Given the description of an element on the screen output the (x, y) to click on. 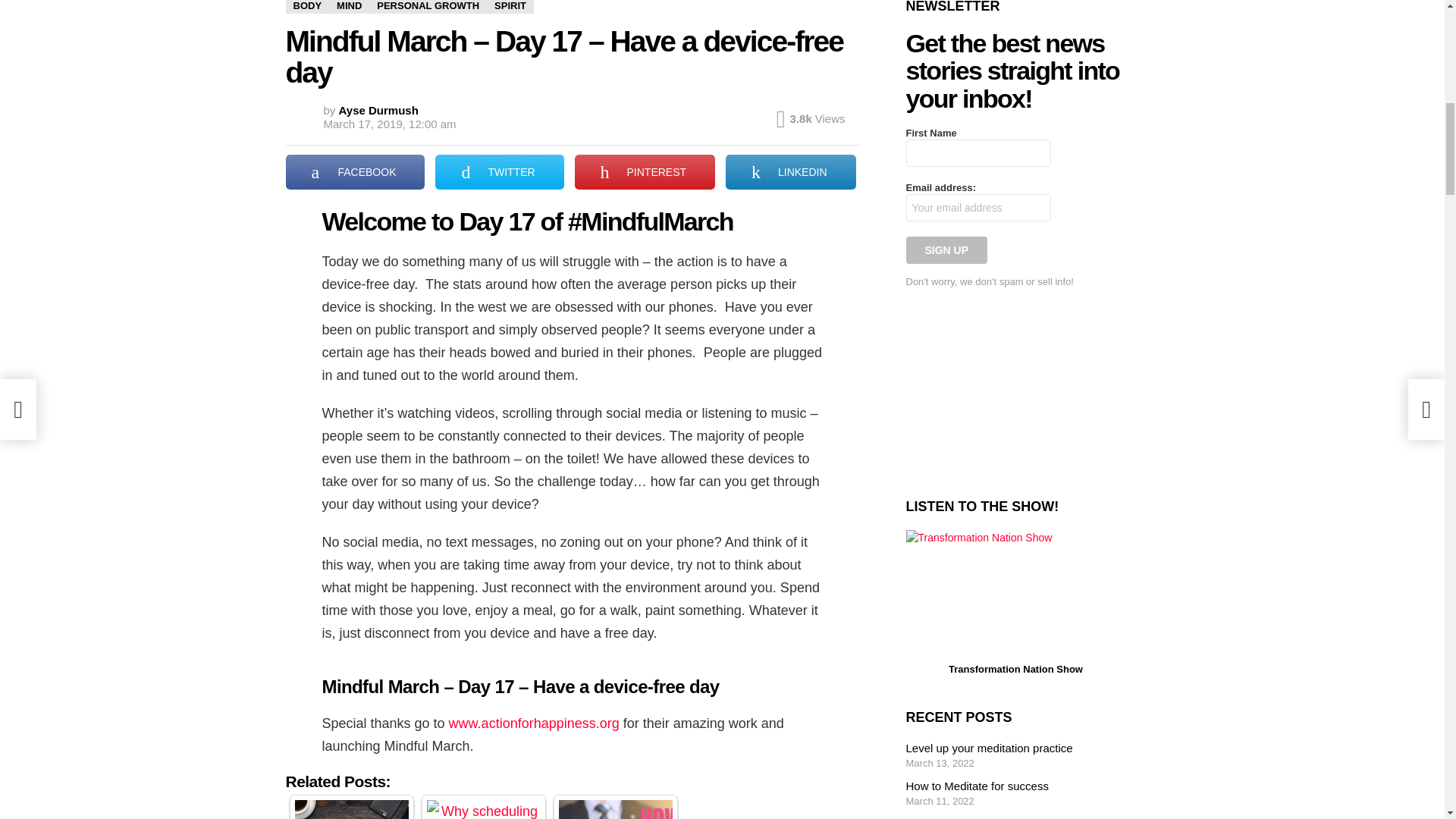
Why scheduling self-care is important (483, 809)
Sign up (946, 249)
Share on Twitter (499, 171)
Posts by Ayse Durmush (379, 110)
SPIRIT (510, 6)
Share on Facebook (355, 171)
BODY (307, 6)
How to Meditate for success (614, 809)
www.actionforhappiness.org (534, 723)
How to Meditate for success (614, 809)
